Given the description of an element on the screen output the (x, y) to click on. 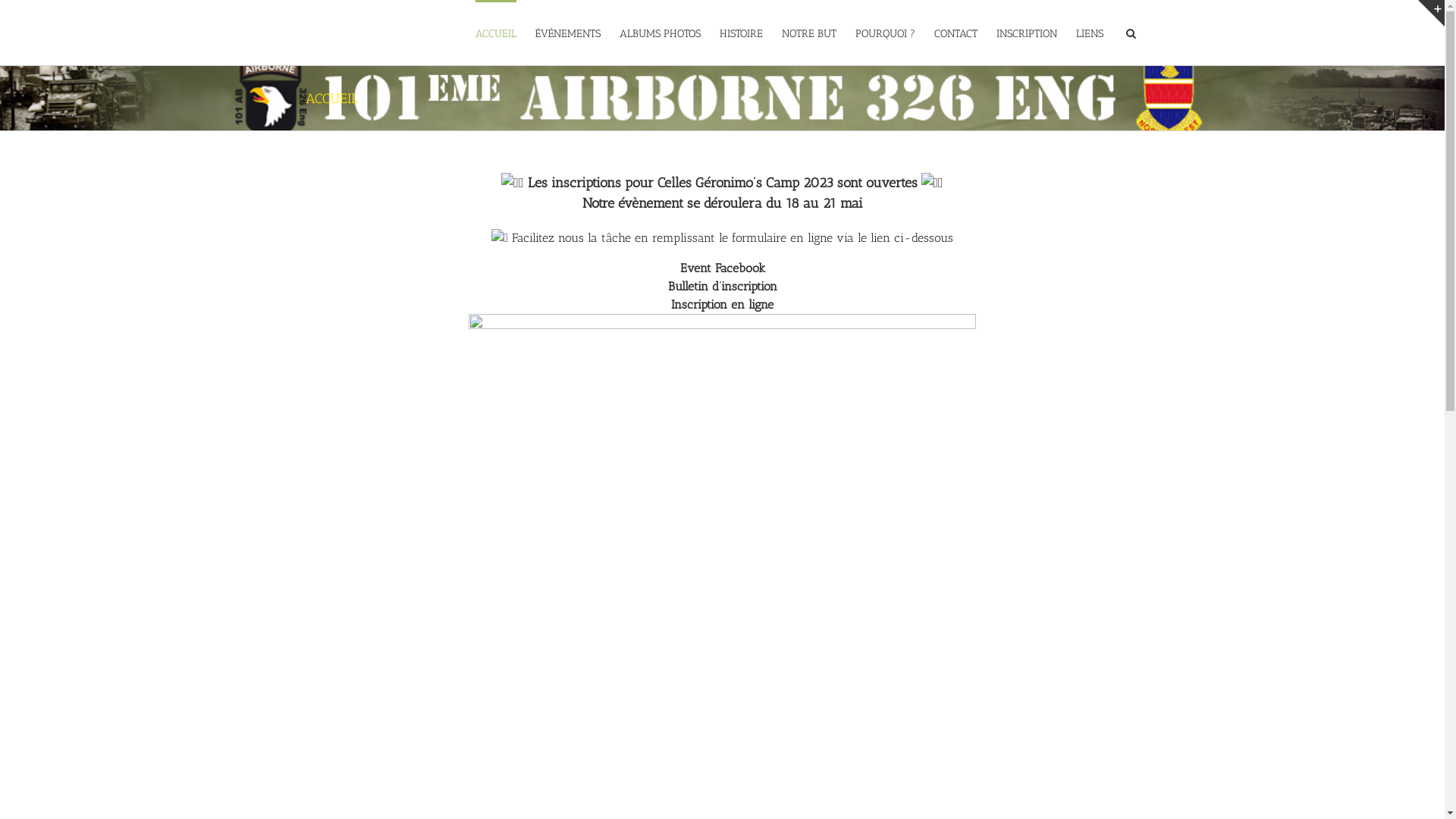
INSCRIPTION Element type: text (1026, 32)
ACCUEIL Element type: text (494, 32)
CONTACT Element type: text (955, 32)
Inscription en ligne Element type: text (722, 304)
NOTRE BUT Element type: text (808, 32)
POURQUOI ? Element type: text (885, 32)
LIENS Element type: text (1088, 32)
HISTOIRE Element type: text (740, 32)
ALBUMS PHOTOS Element type: text (658, 32)
Event Facebook Element type: text (721, 267)
